Given the description of an element on the screen output the (x, y) to click on. 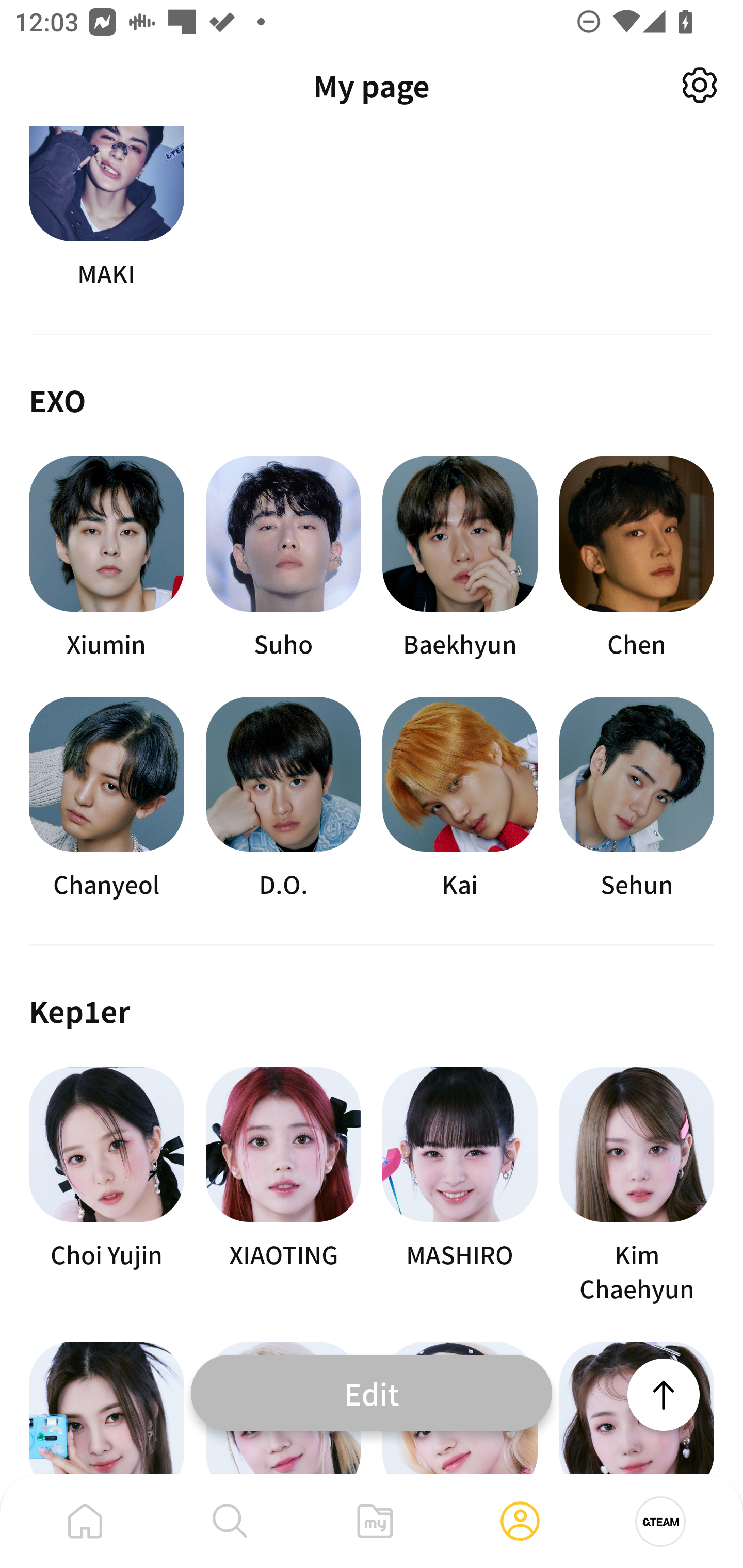
MAKI (106, 208)
Xiumin (106, 558)
Suho (282, 558)
Baekhyun (459, 558)
Chen (636, 558)
Chanyeol (106, 798)
D.O. (282, 798)
Kai (459, 798)
Sehun (636, 798)
Choi Yujin (106, 1185)
XIAOTING (282, 1185)
MASHIRO (459, 1185)
Kim Chaehyun (636, 1185)
Edit (371, 1392)
